Given the description of an element on the screen output the (x, y) to click on. 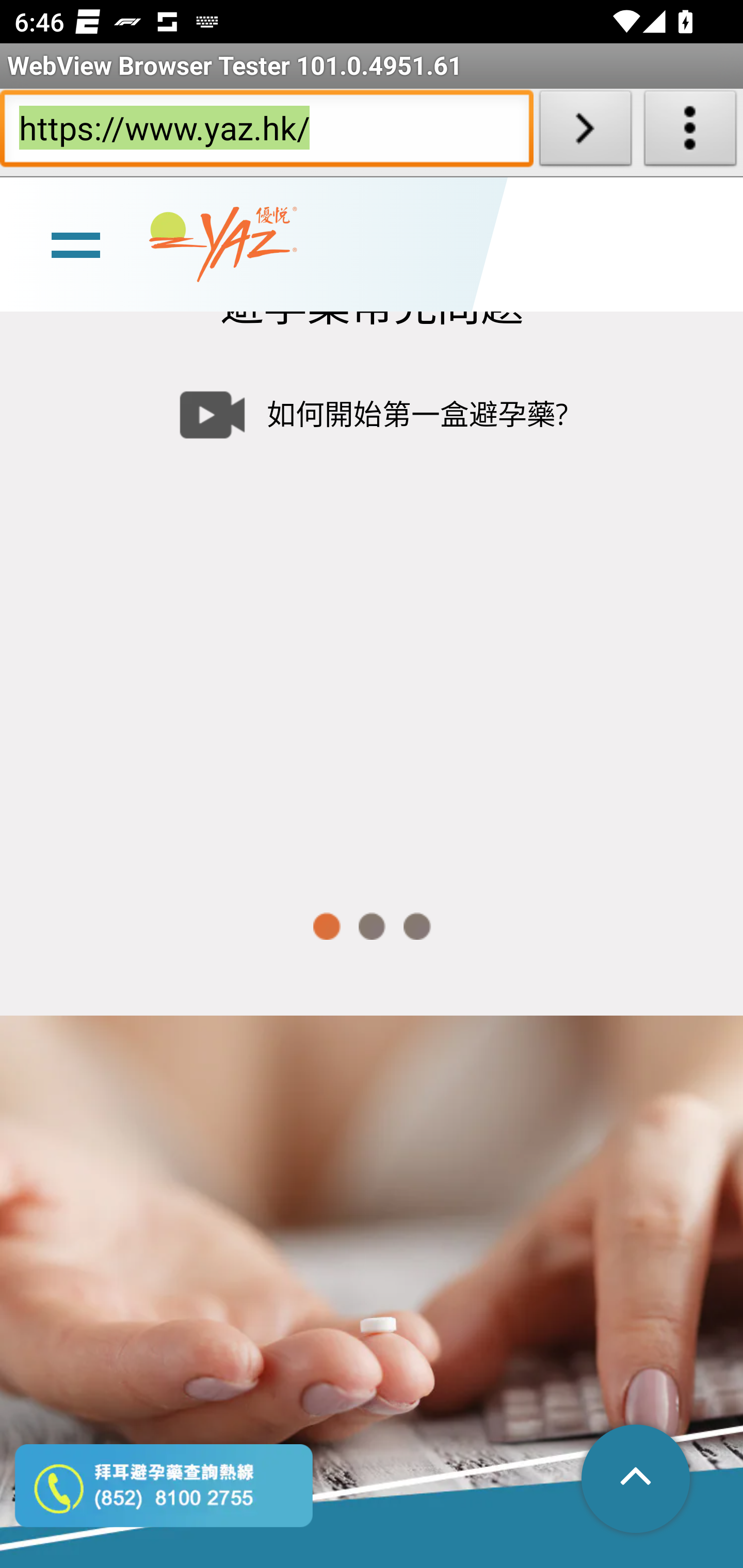
https://www.yaz.hk/ (266, 132)
Load URL (585, 132)
About WebView (690, 132)
www.yaz (222, 244)
line Toggle burger menu (75, 243)
slide 1 如何開始第一盒避孕藥? Video Player Video Player (371, 611)
1 of 3 (326, 926)
2 of 3 (371, 926)
3 of 3 (416, 926)
 (636, 1480)
